Given the description of an element on the screen output the (x, y) to click on. 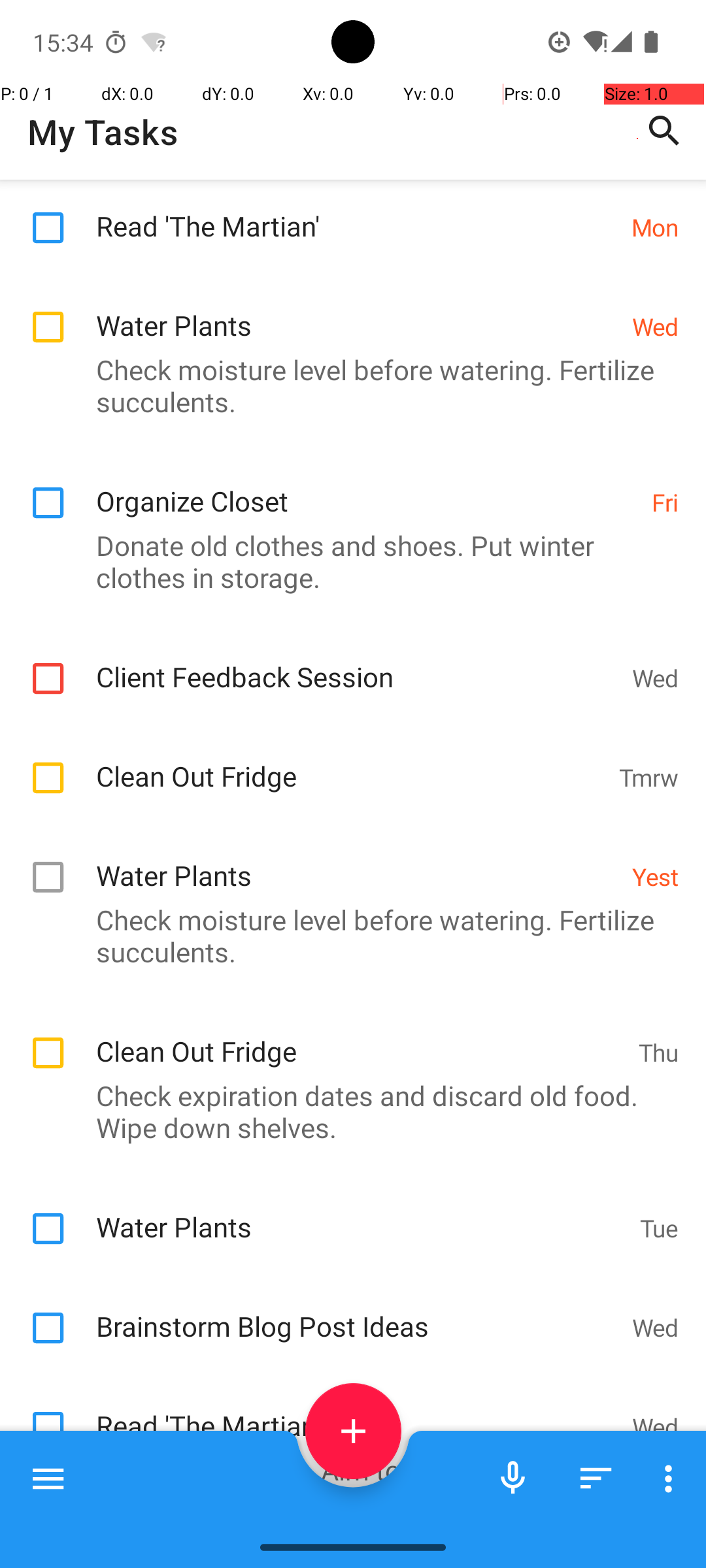
Client Feedback Session Element type: android.widget.TextView (357, 662)
